Given the description of an element on the screen output the (x, y) to click on. 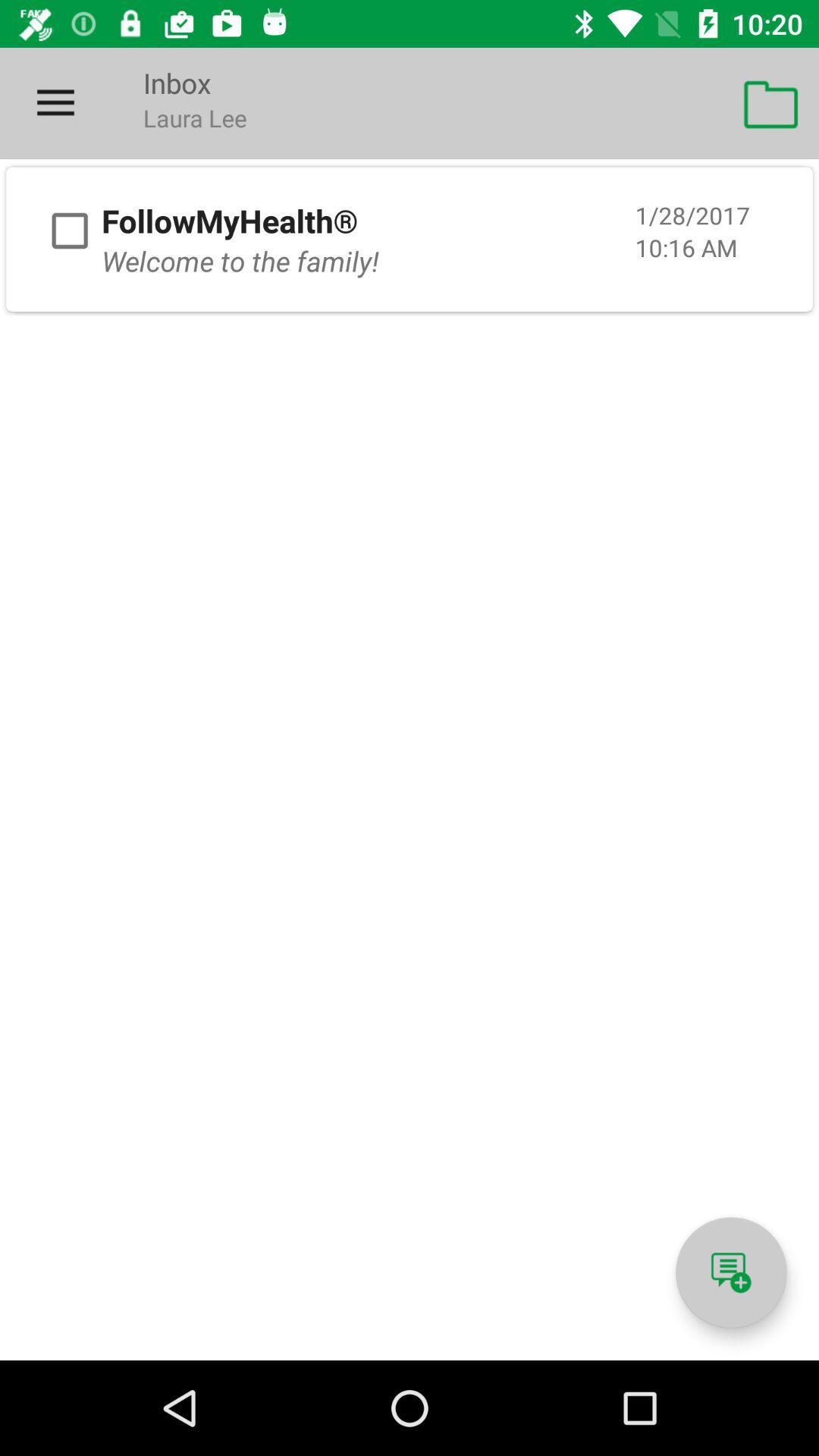
select the folder (69, 230)
